Given the description of an element on the screen output the (x, y) to click on. 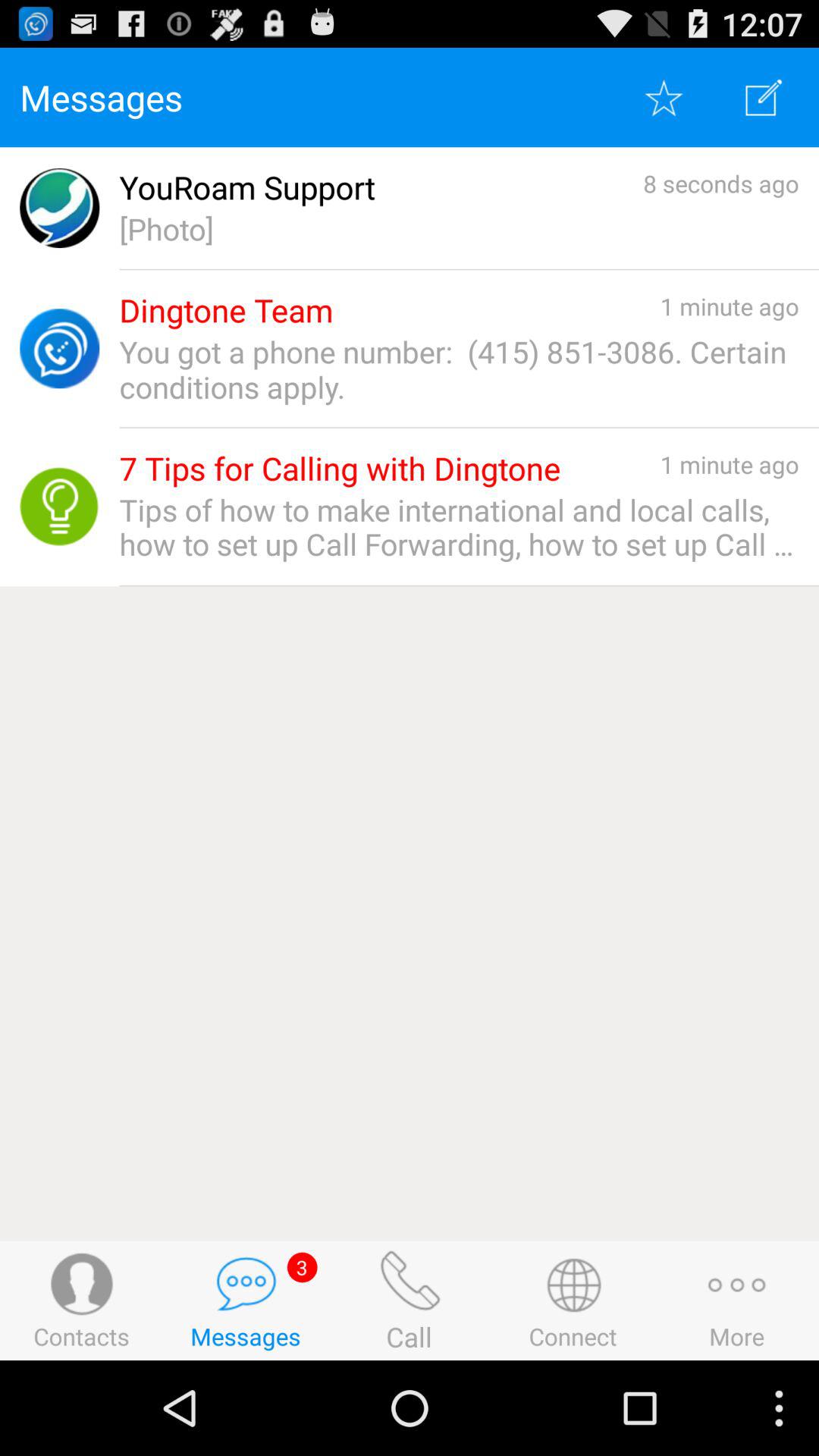
choose the item below the youroam support app (459, 228)
